Given the description of an element on the screen output the (x, y) to click on. 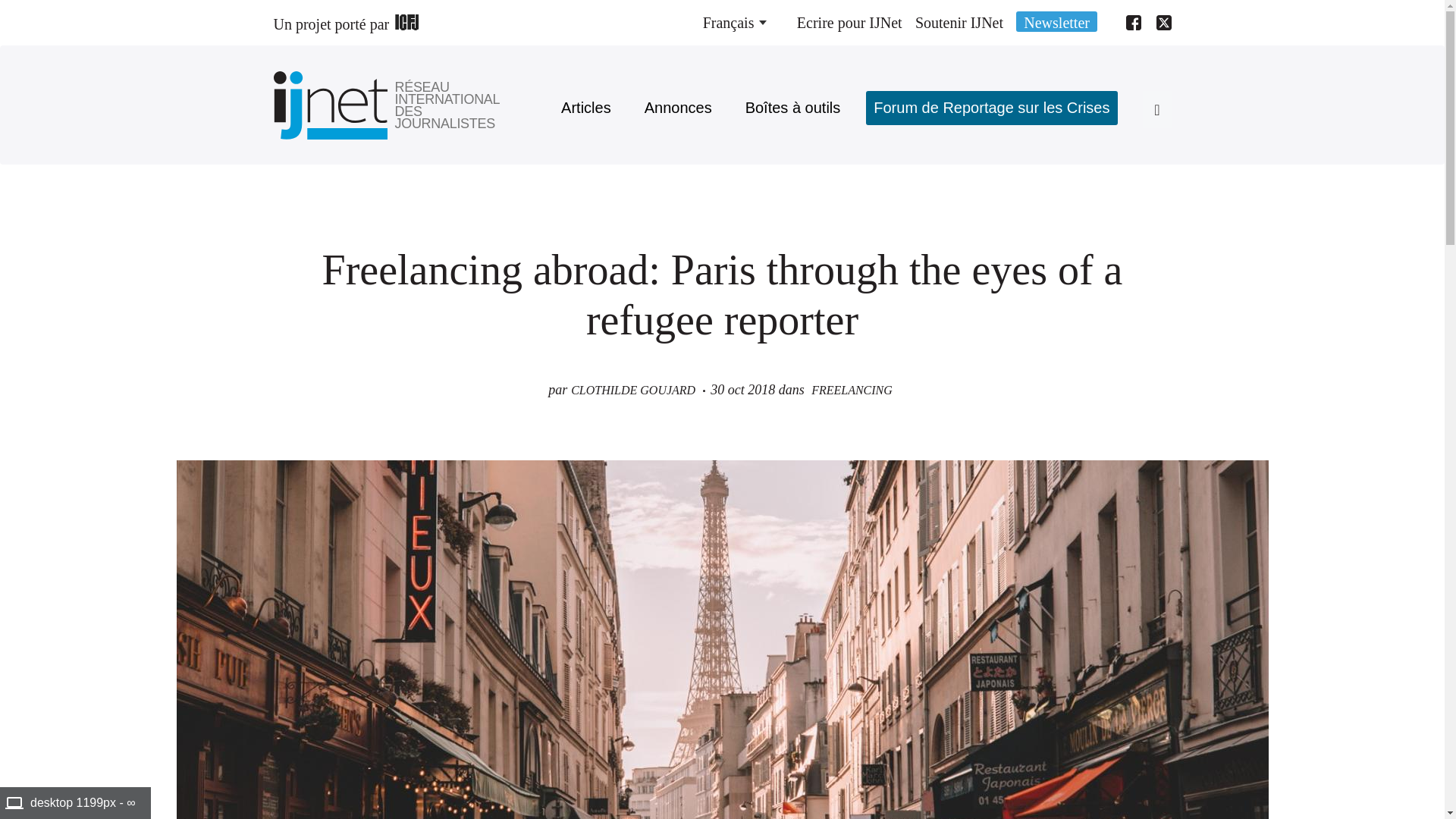
Articles (585, 107)
Toggle Dropdown (734, 22)
Home (333, 105)
Forum de Reportage sur les Crises (991, 107)
Subscribe to the newsletter modal (1056, 20)
Annonces (678, 107)
Home (448, 105)
Ecrire pour IJNet (849, 22)
